Given the description of an element on the screen output the (x, y) to click on. 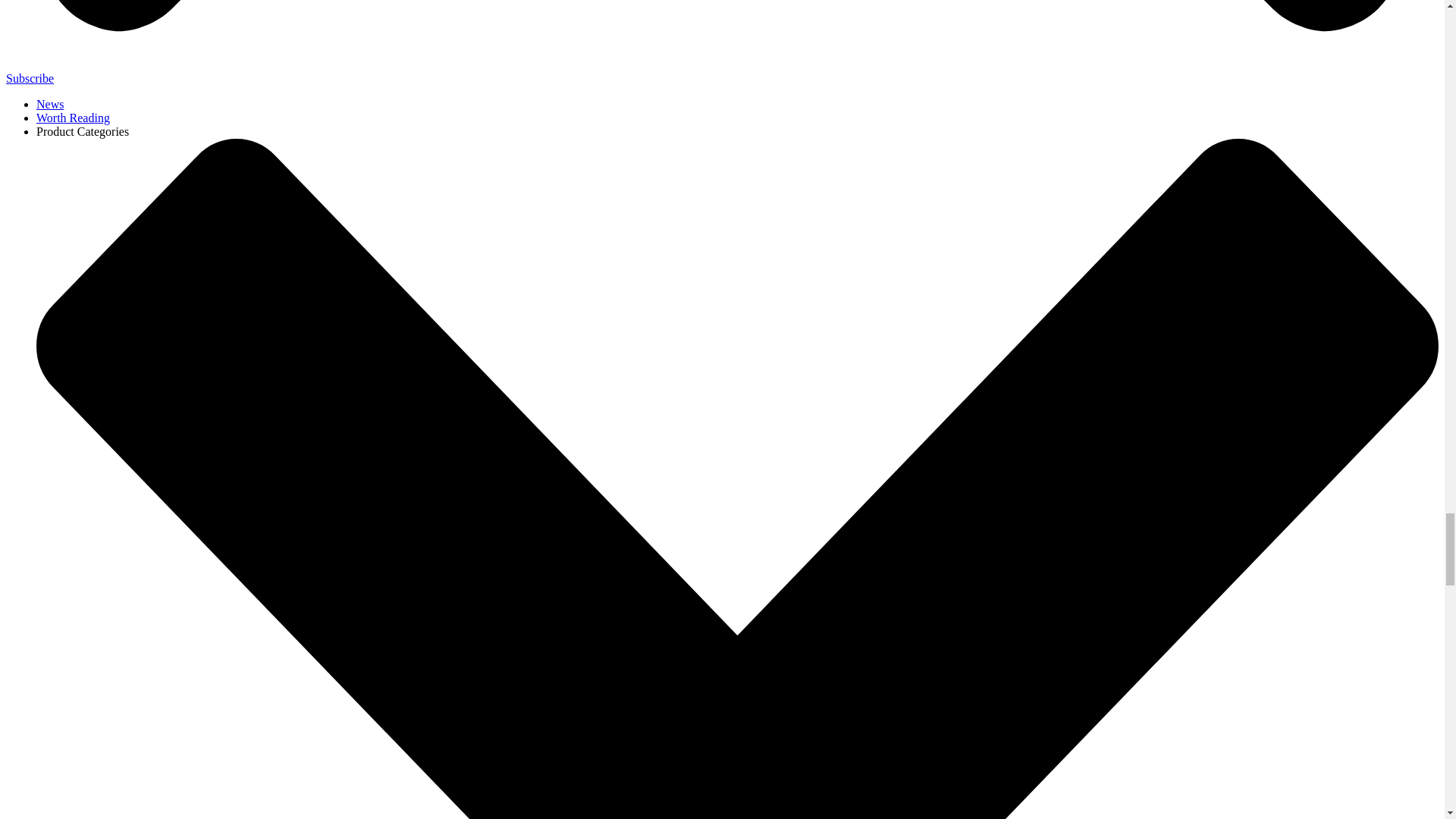
News (50, 103)
Product Categories (82, 131)
Subscribe (29, 78)
Worth Reading (73, 117)
